Given the description of an element on the screen output the (x, y) to click on. 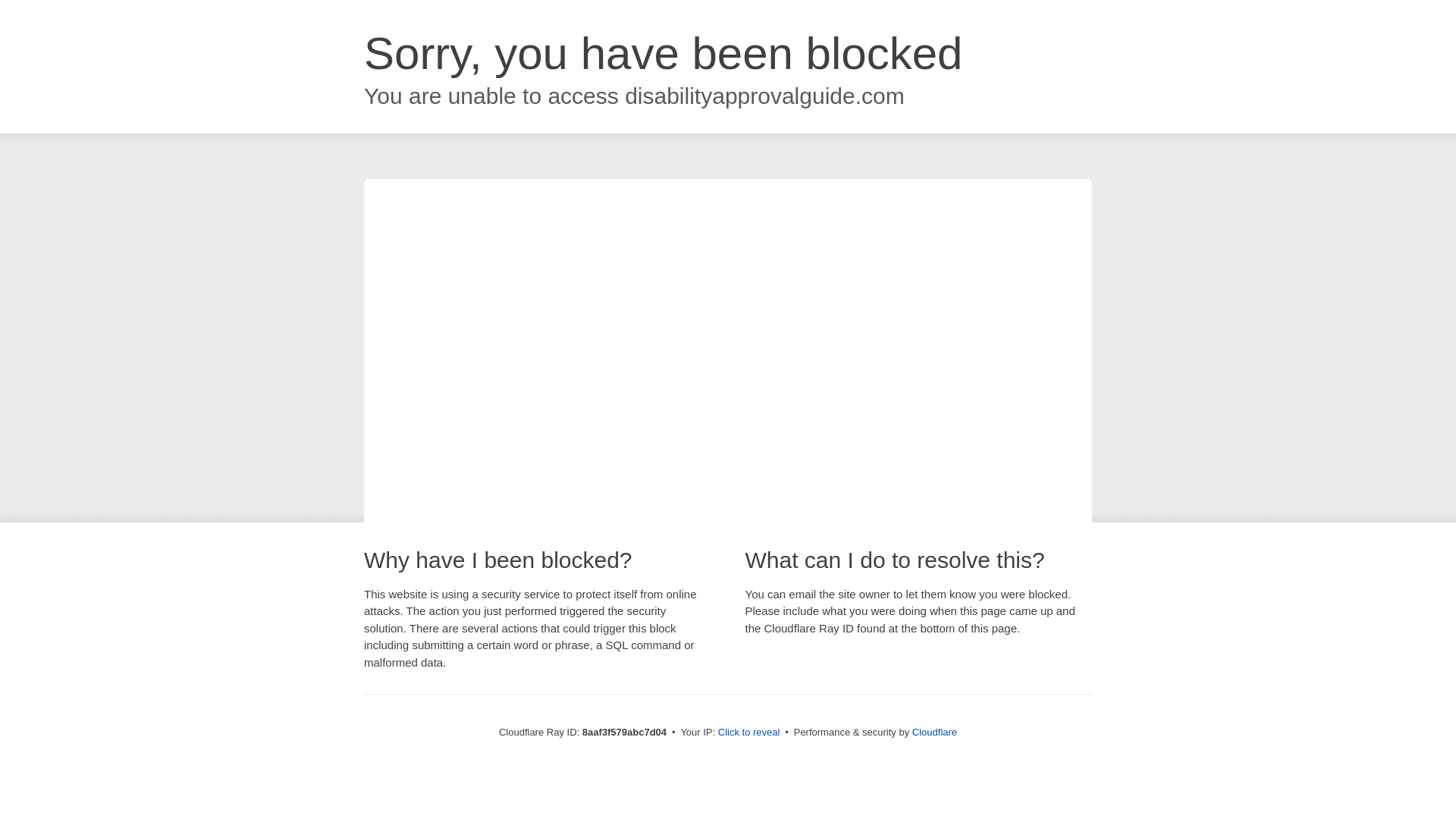
Cloudflare (934, 731)
Click to reveal (748, 732)
